Given the description of an element on the screen output the (x, y) to click on. 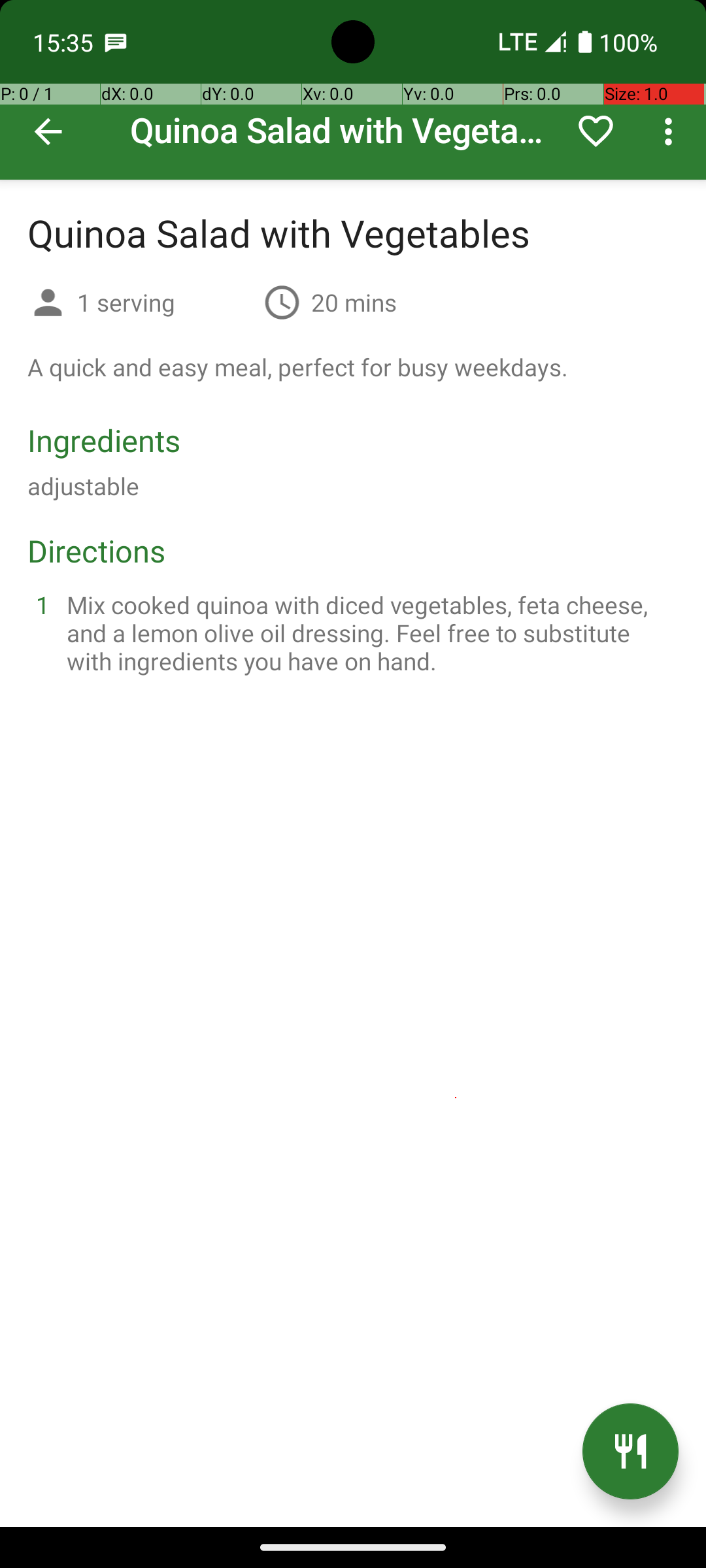
Mix cooked quinoa with diced vegetables, feta cheese, and a lemon olive oil dressing. Feel free to substitute with ingredients you have on hand. Element type: android.widget.TextView (368, 632)
